Given the description of an element on the screen output the (x, y) to click on. 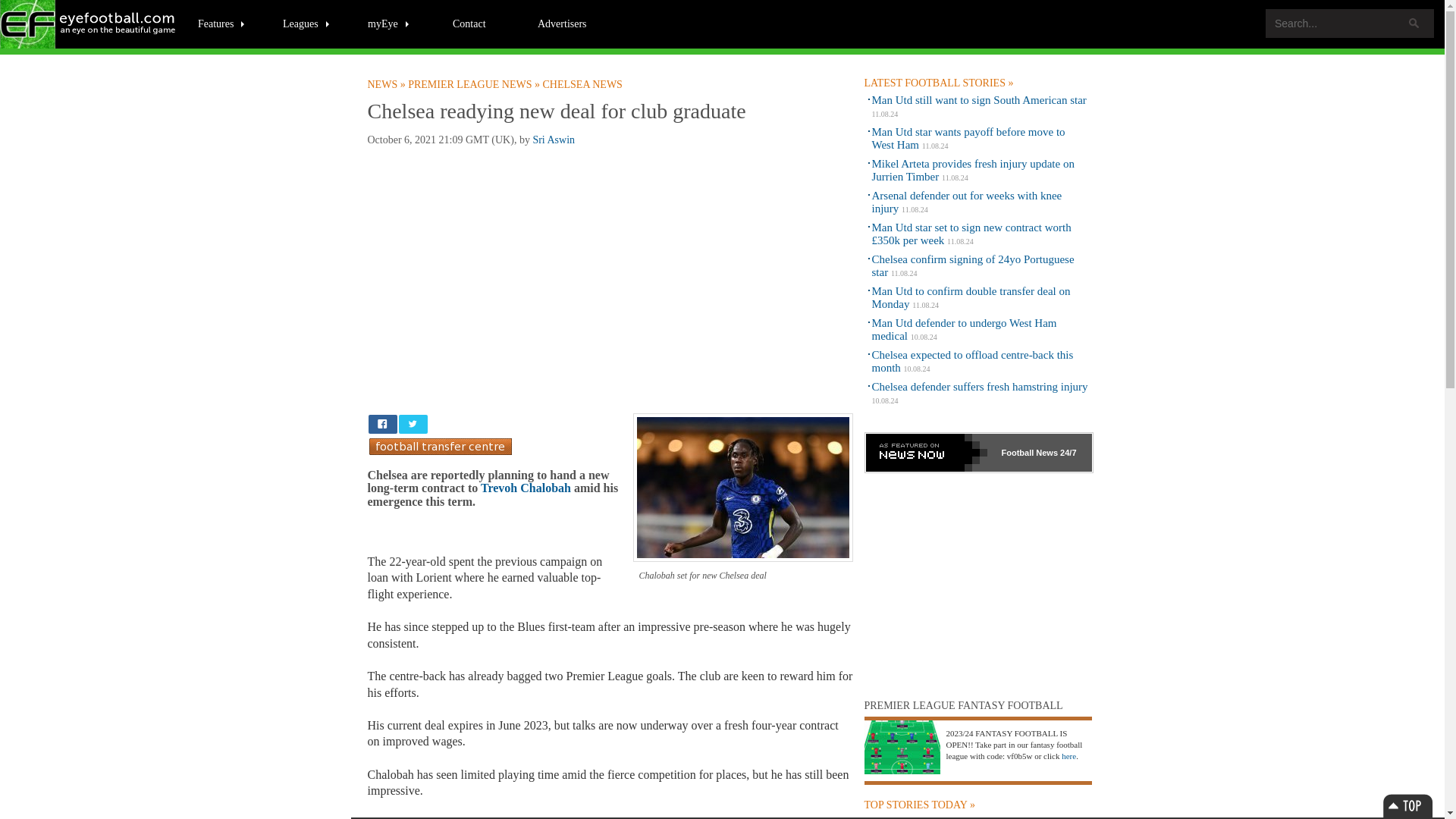
Football News (386, 84)
Top (1407, 805)
myEye (389, 23)
Search... (1349, 23)
Advertisers (561, 23)
Trevoh Chalobah (525, 487)
Contact (469, 23)
Search (1414, 22)
Leagues (306, 23)
Features (221, 23)
